Given the description of an element on the screen output the (x, y) to click on. 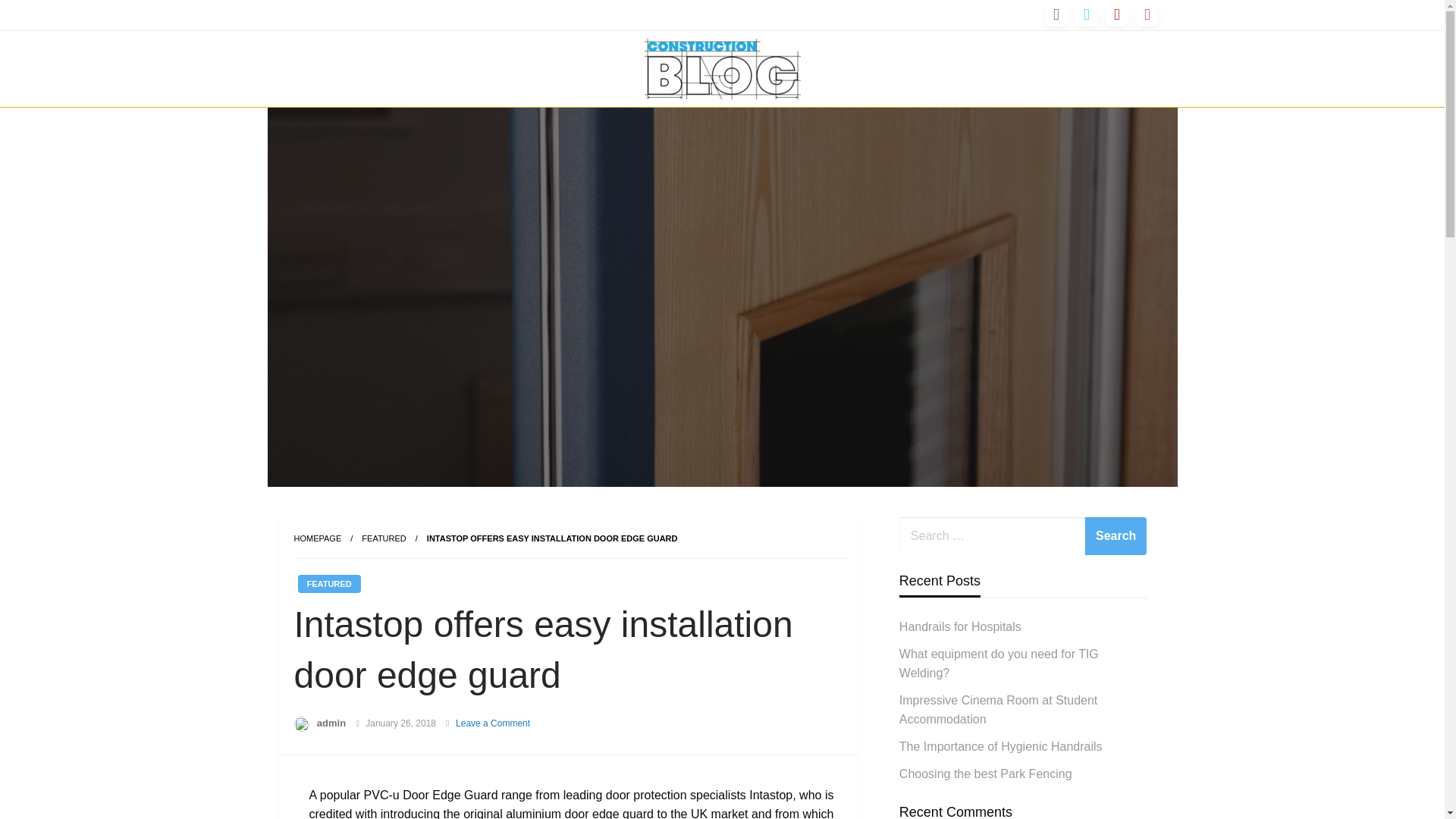
Featured (383, 537)
Search (1115, 535)
Homepage (318, 537)
Search (1115, 535)
Intastop offers easy installation door edge guard (552, 537)
HOMEPAGE (318, 537)
admin (331, 722)
